Given the description of an element on the screen output the (x, y) to click on. 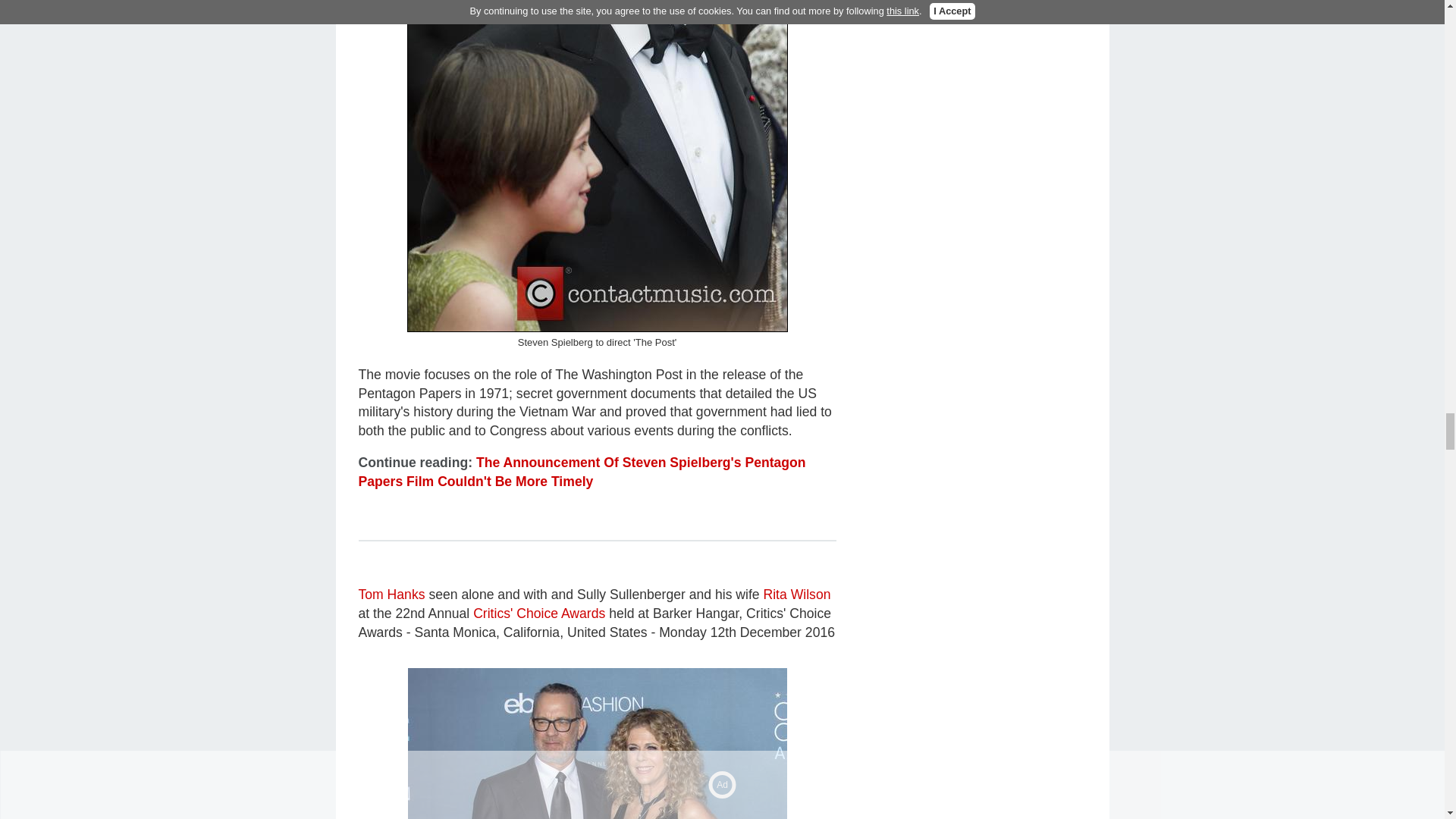
Tom Hanks and Rita Wilson (597, 743)
Steven Spielberg (596, 166)
